Given the description of an element on the screen output the (x, y) to click on. 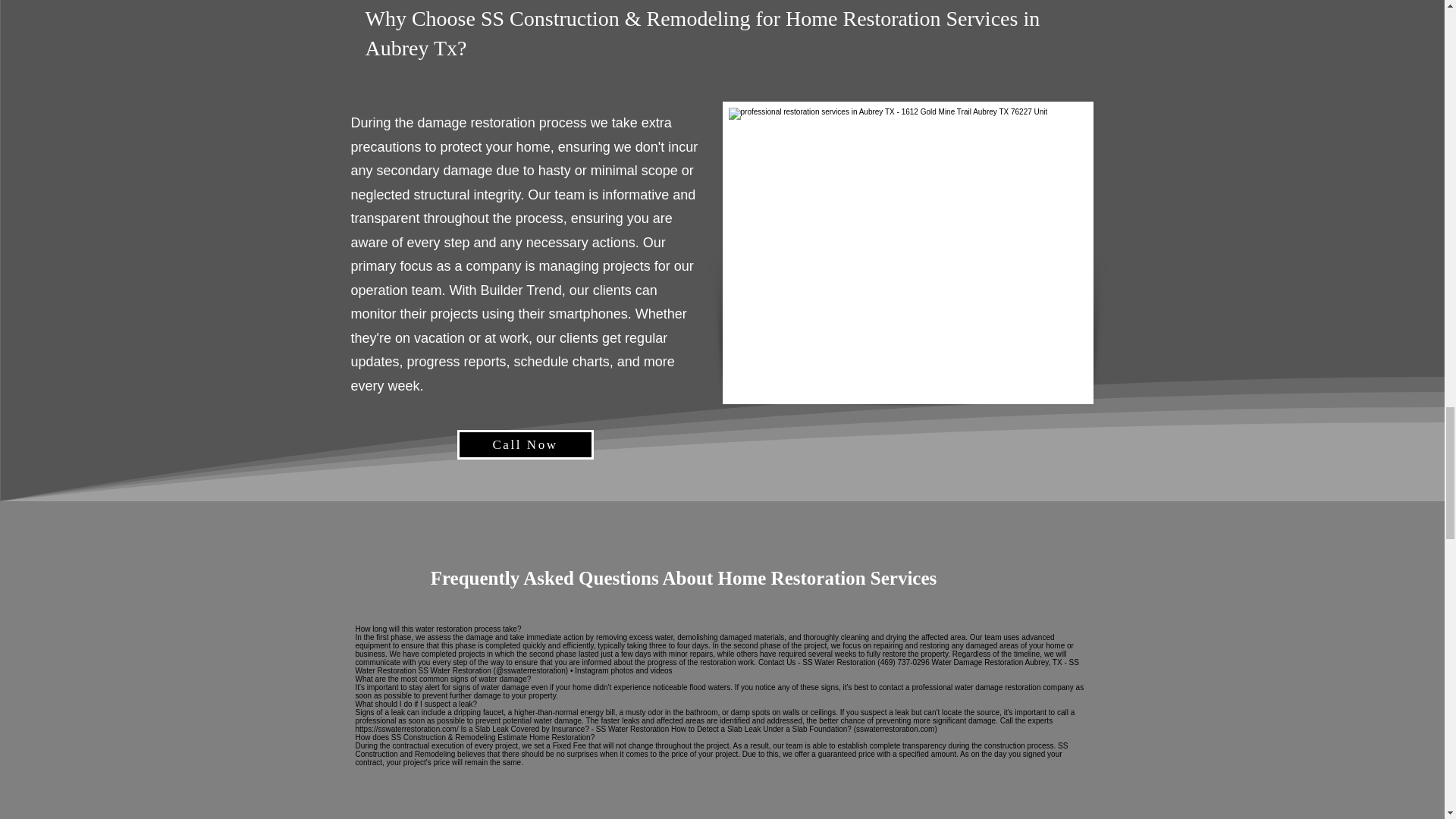
Call Now (524, 444)
